Given the description of an element on the screen output the (x, y) to click on. 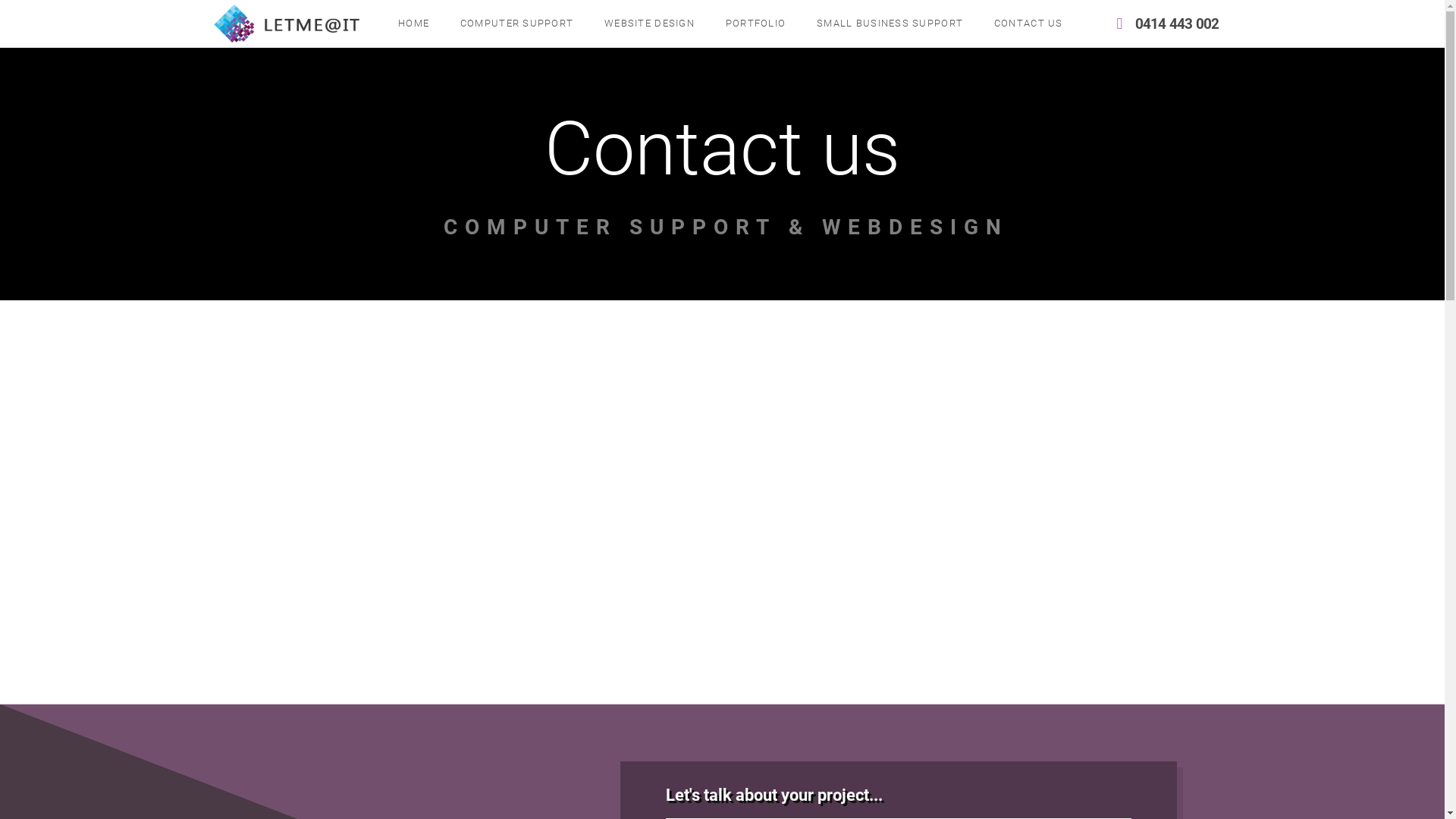
0414 443 002 Element type: text (1165, 23)
COMPUTER SUPPORT Element type: text (516, 23)
HOME Element type: text (413, 23)
CONTACT US Element type: text (1028, 23)
PORTFOLIO Element type: text (754, 23)
SMALL BUSINESS SUPPORT Element type: text (889, 23)
WEBSITE DESIGN Element type: text (648, 23)
